Given the description of an element on the screen output the (x, y) to click on. 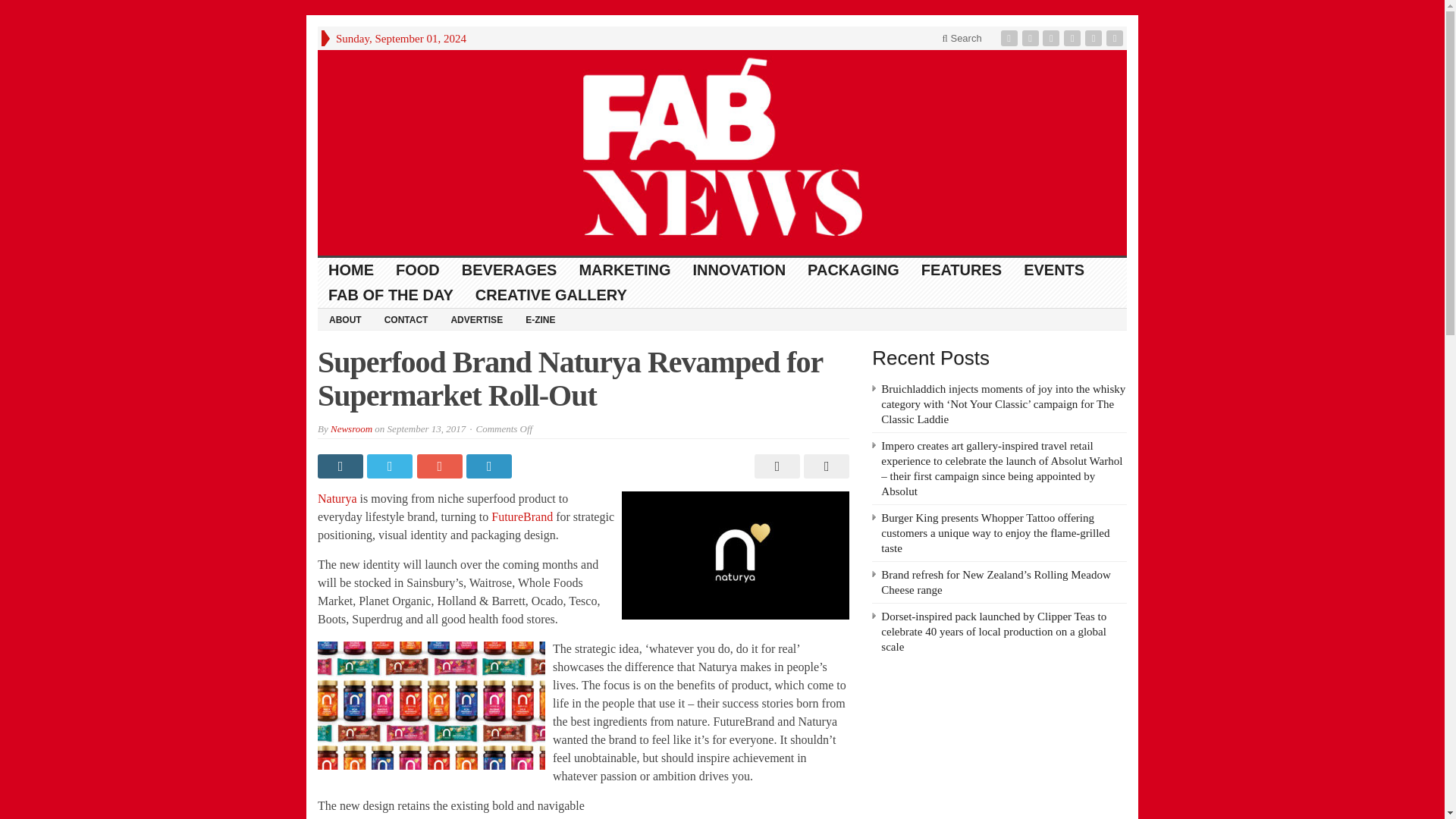
Share on Facebook (341, 466)
Facebook (1011, 37)
ABOUT (344, 319)
Share on Twitter (391, 466)
Share on LinkedIn (490, 466)
FAB OF THE DAY (390, 294)
Search (962, 37)
Print This Post (775, 466)
BEVERAGES (510, 269)
EVENTS (1054, 269)
